Given the description of an element on the screen output the (x, y) to click on. 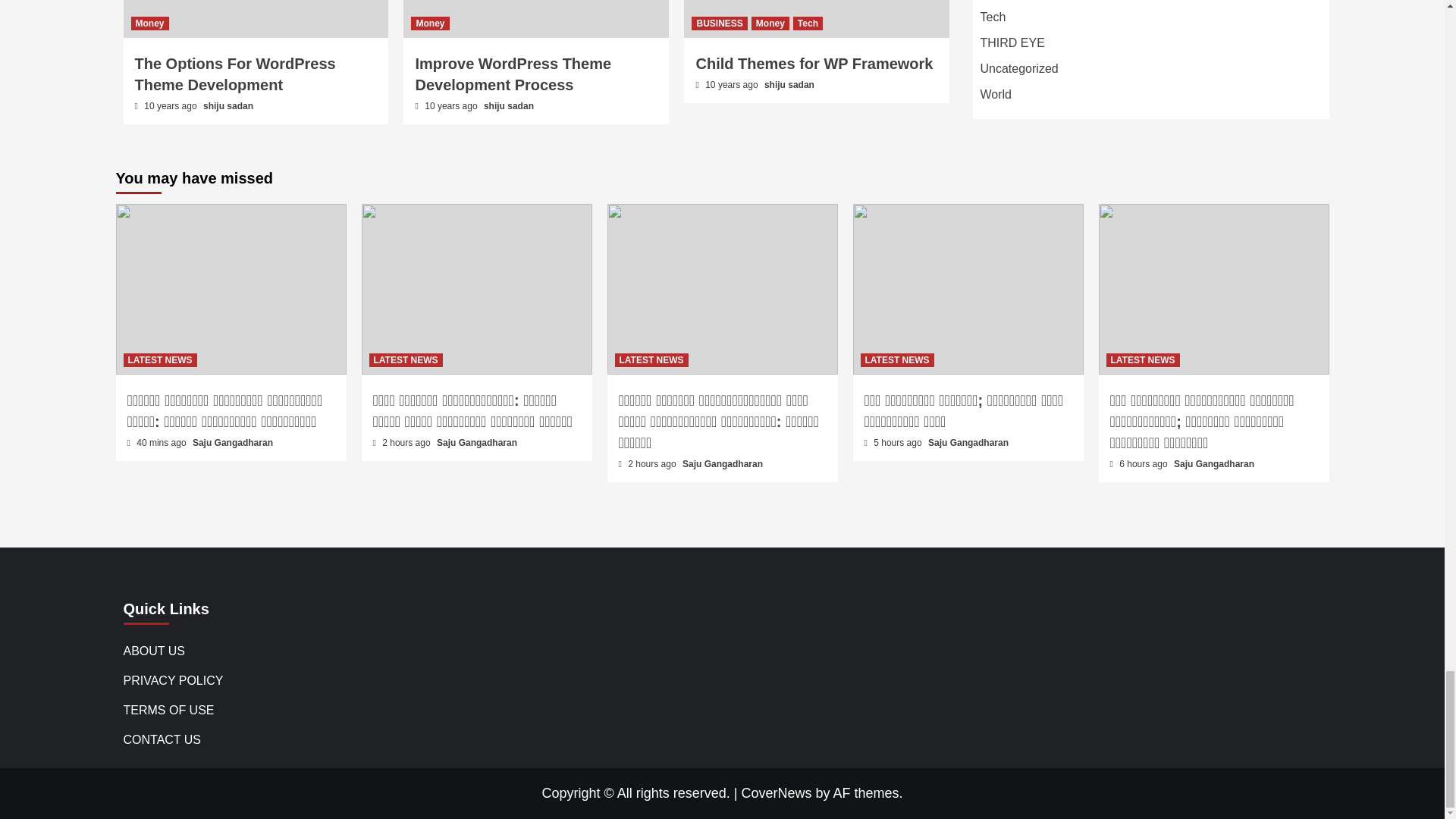
Money (429, 23)
Money (149, 23)
The Options For WordPress Theme Development (235, 74)
Tech (807, 23)
shiju sadan (788, 84)
shiju sadan (228, 105)
BUSINESS (718, 23)
Improve WordPress Theme Development Process (512, 74)
shiju sadan (508, 105)
Money (770, 23)
